Given the description of an element on the screen output the (x, y) to click on. 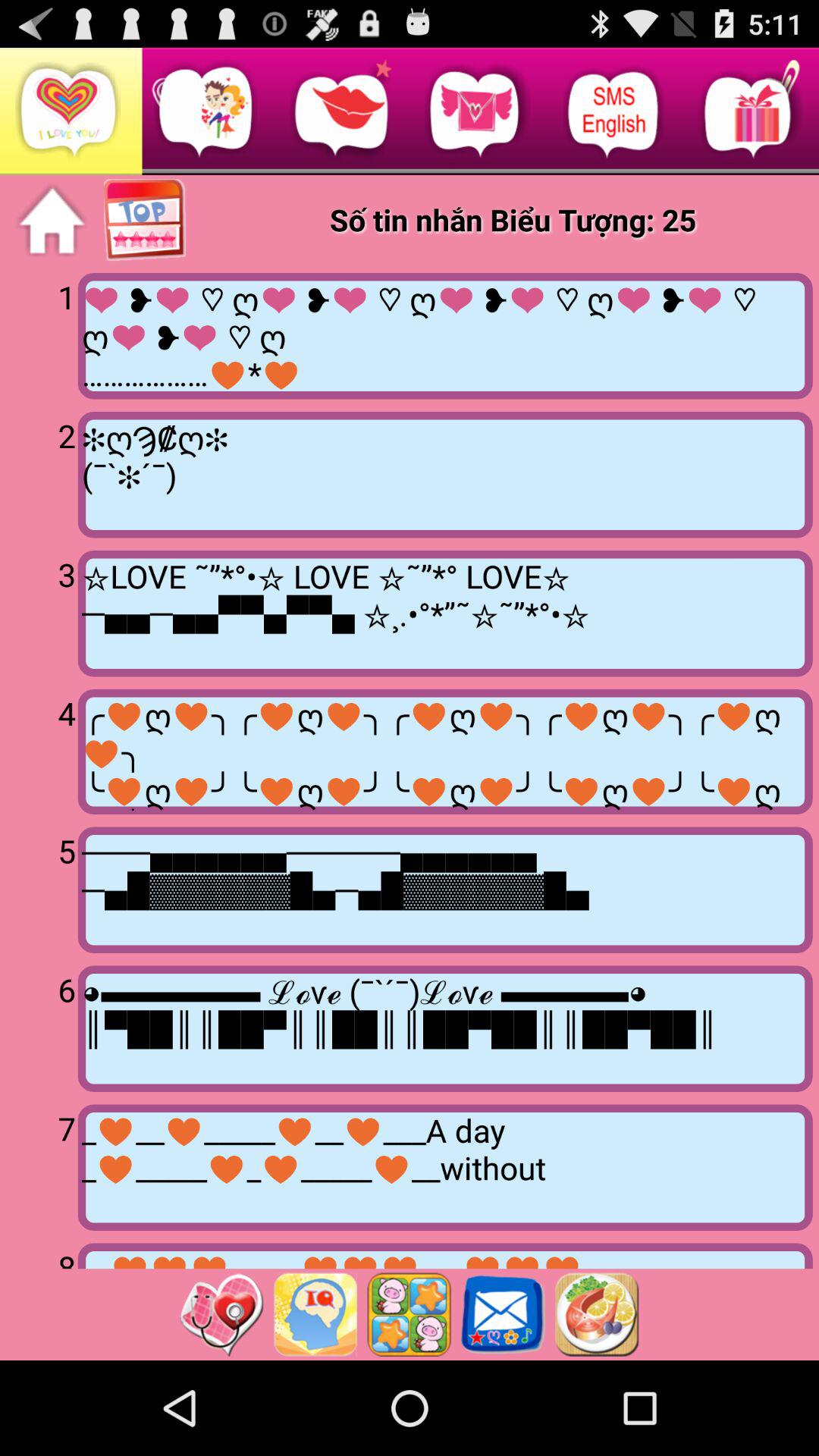
go home (51, 220)
